Given the description of an element on the screen output the (x, y) to click on. 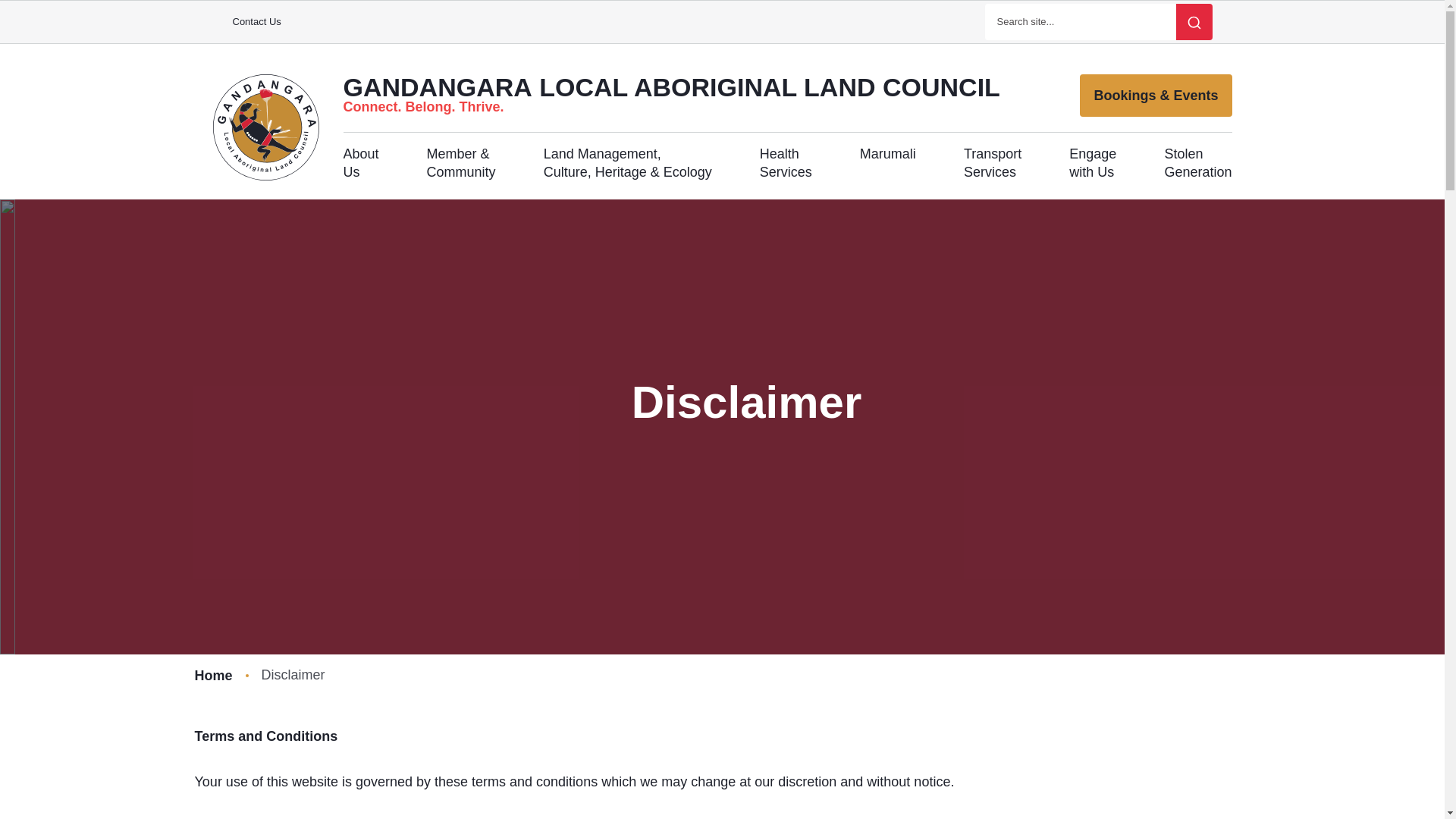
Home Element type: text (213, 675)
Member &
Community Element type: text (460, 162)
Marumali Element type: text (887, 162)
Transport
Services Element type: text (992, 162)
Health
Services Element type: text (785, 162)
Bookings & Events Element type: text (1155, 95)
Land Management,
Culture, Heritage & Ecology Element type: text (627, 162)
Engage
with Us Element type: text (1092, 162)
Bookings & Events Element type: text (1155, 95)
About
Us Element type: text (360, 162)
Stolen
Generation Element type: text (1197, 162)
Contact Us Element type: text (256, 21)
